Given the description of an element on the screen output the (x, y) to click on. 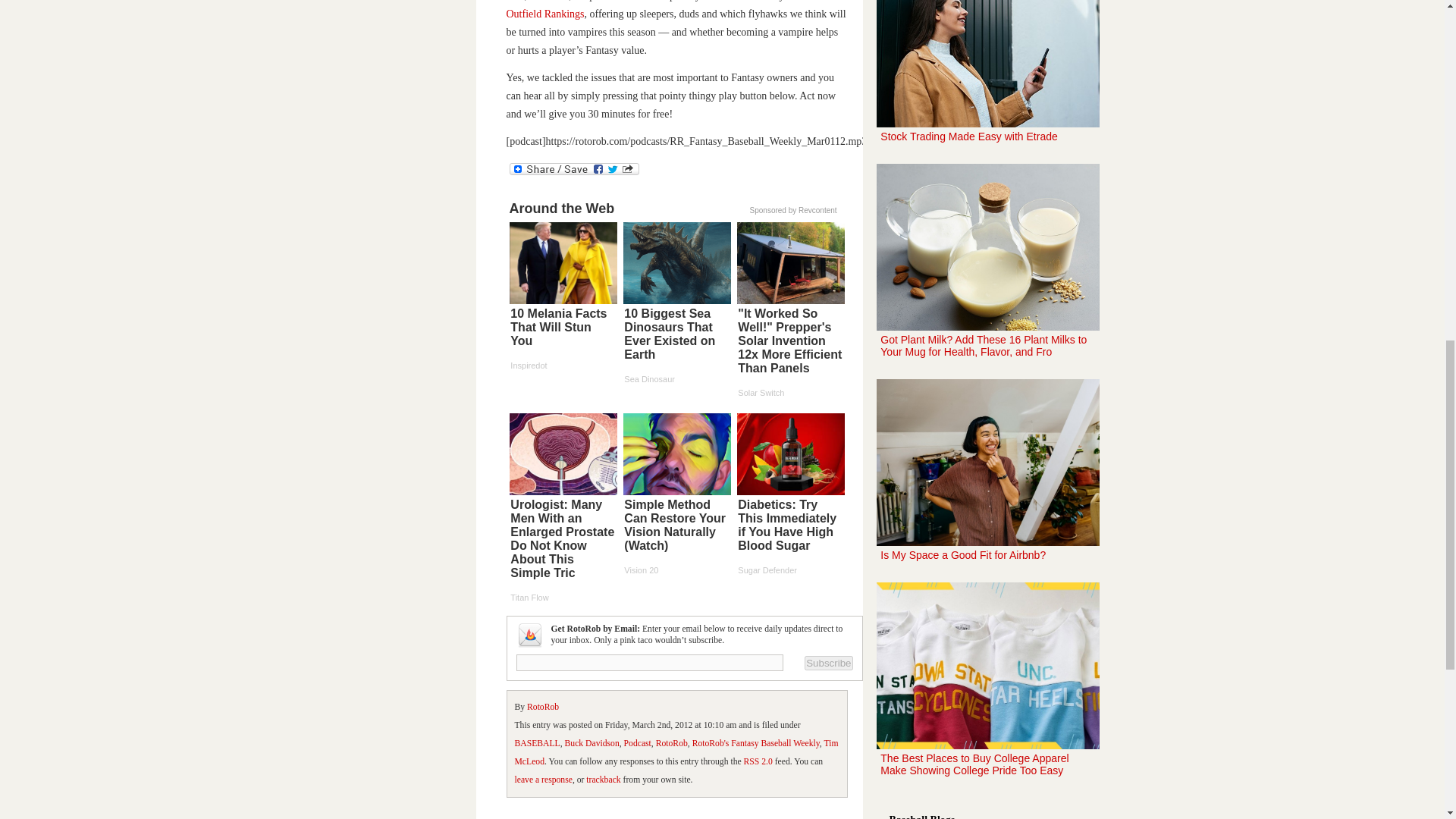
Outfield Rankings (545, 13)
trackback (603, 779)
Podcast (637, 743)
RotoRob's Fantasy Baseball Weekly (756, 743)
Subscribe (828, 662)
Stock Trading Made Easy with Etrade (987, 79)
RotoRob (543, 706)
Subscribe (828, 662)
Tim McLeod (675, 752)
